Given the description of an element on the screen output the (x, y) to click on. 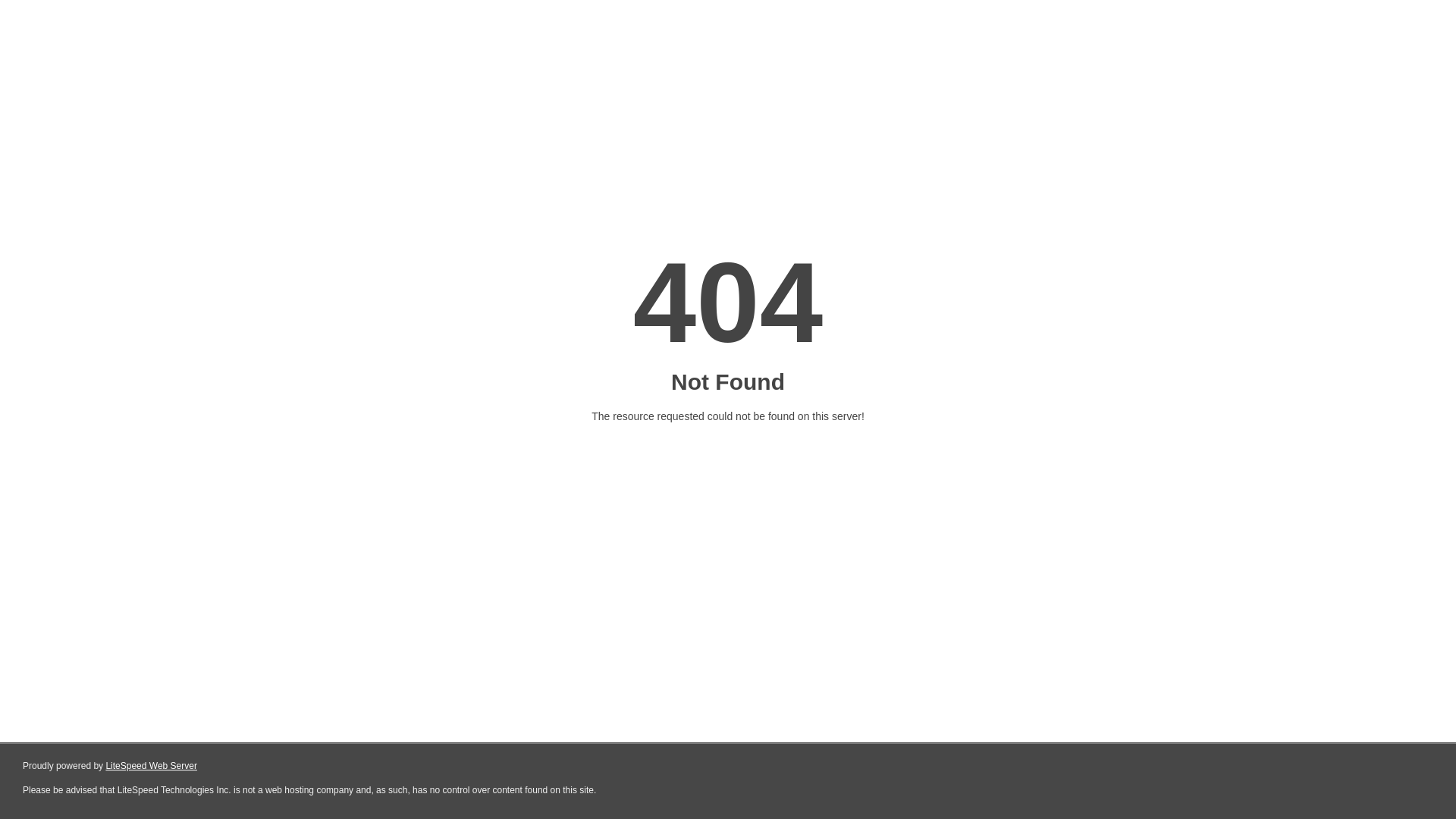
LiteSpeed Web Server Element type: text (151, 765)
